Given the description of an element on the screen output the (x, y) to click on. 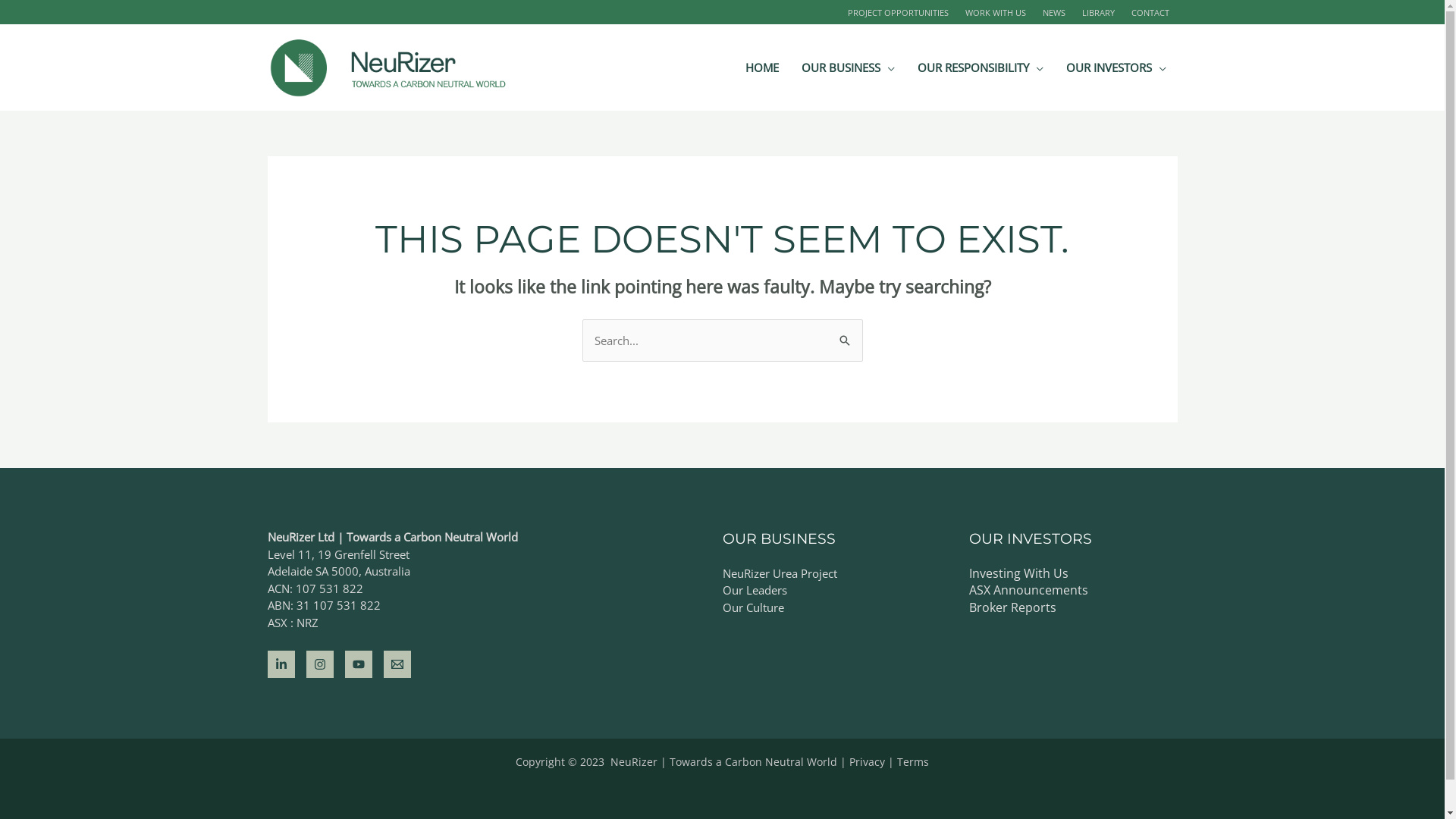
NeuRizer Urea Project Element type: text (778, 572)
OUR INVESTORS Element type: text (1115, 67)
CONTACT Element type: text (1149, 12)
Broker Reports Element type: text (1012, 607)
ASX Announcements Element type: text (1028, 589)
OUR BUSINESS Element type: text (848, 67)
LIBRARY Element type: text (1098, 12)
Terms Element type: text (912, 761)
Investing With Us Element type: text (1018, 572)
Our Culture Element type: text (752, 607)
HOME Element type: text (762, 67)
PROJECT OPPORTUNITIES Element type: text (897, 12)
Privacy Element type: text (866, 761)
Our Leaders Element type: text (753, 589)
NEWS Element type: text (1053, 12)
OUR RESPONSIBILITY Element type: text (979, 67)
WORK WITH US Element type: text (995, 12)
Search Element type: text (845, 333)
